Given the description of an element on the screen output the (x, y) to click on. 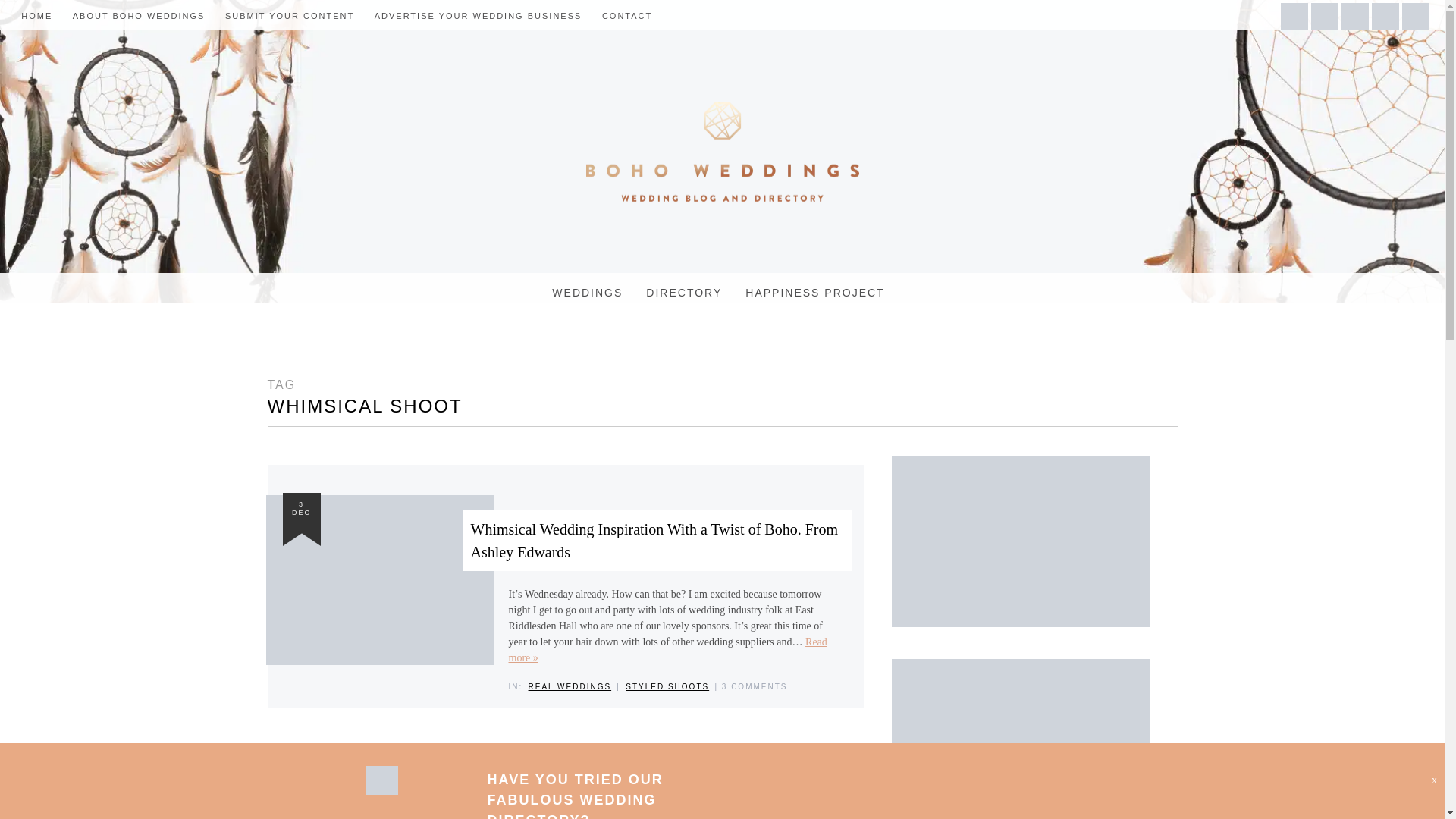
Have you tried our fabulous wedding directory? (574, 795)
DIRECTORY (684, 292)
HOME (36, 16)
Why not visit our Supplier Directory (1020, 739)
CONTACT (627, 16)
Have you tried our fabulous wedding directory? (381, 789)
ADVERTISE YOUR WEDDING BUSINESS (478, 16)
WEDDINGS (587, 292)
